Given the description of an element on the screen output the (x, y) to click on. 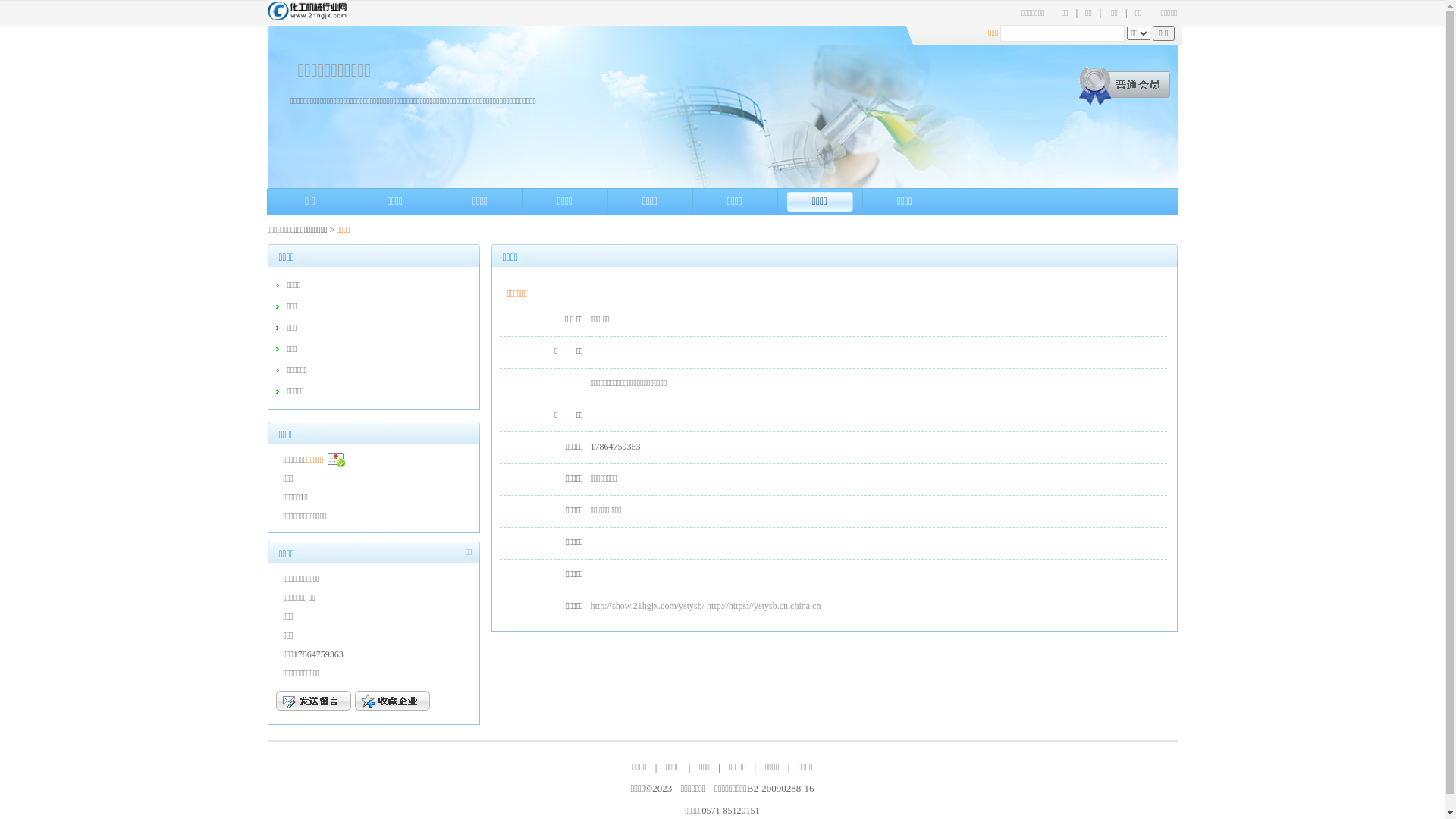
http://show.21hgjx.com/ystysb/ Element type: text (646, 605)
http://https://ystysb.cn.china.cn Element type: text (763, 605)
